Given the description of an element on the screen output the (x, y) to click on. 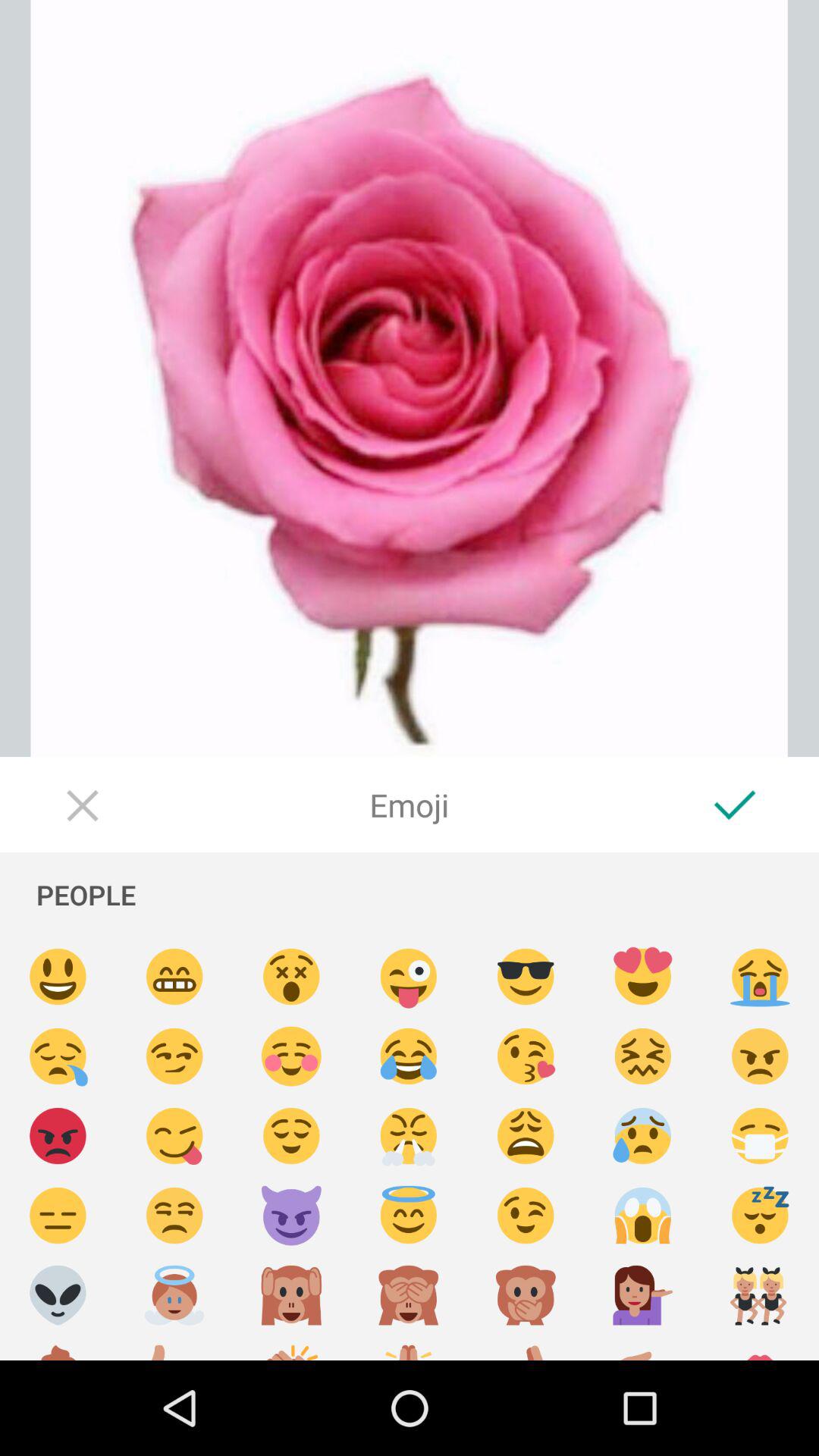
select emoji (408, 1215)
